Given the description of an element on the screen output the (x, y) to click on. 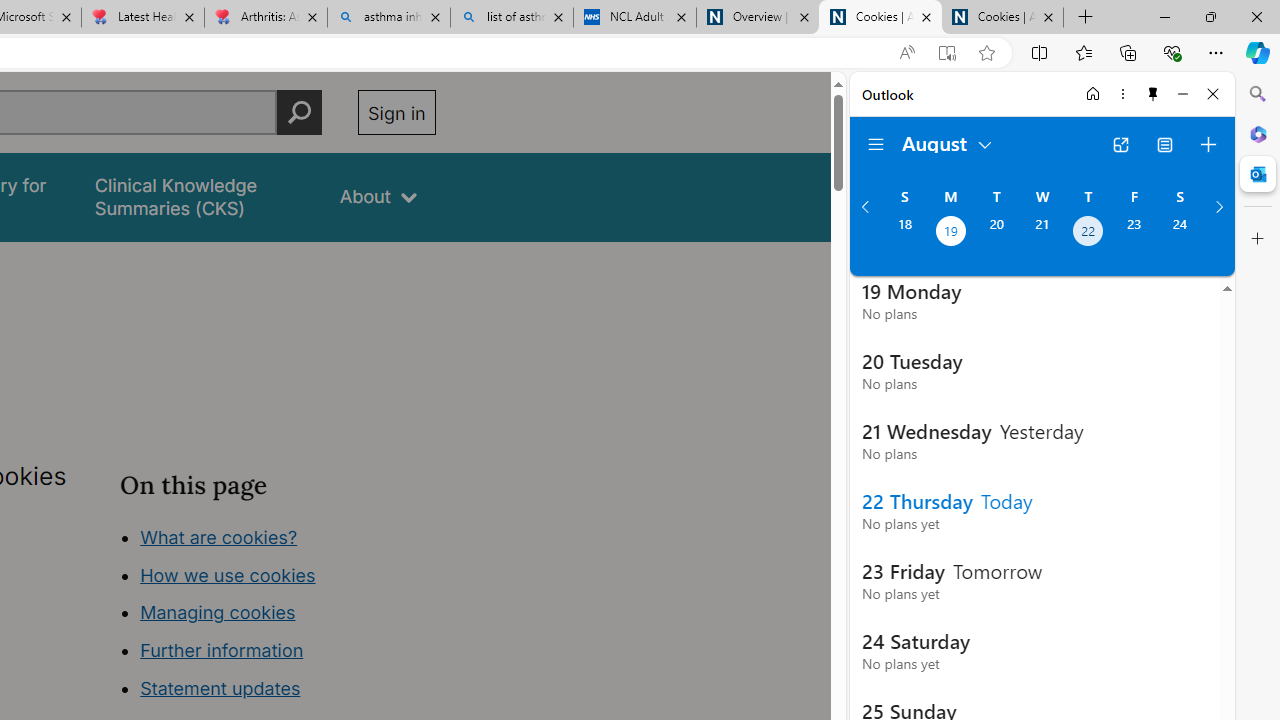
NCL Adult Asthma Inhaler Choice Guideline (634, 17)
Wednesday, August 21, 2024.  (1042, 233)
Open in new tab (1120, 144)
list of asthma inhalers uk - Search (511, 17)
asthma inhaler - Search (388, 17)
Saturday, August 24, 2024.  (1180, 233)
What are cookies? (218, 536)
